Given the description of an element on the screen output the (x, y) to click on. 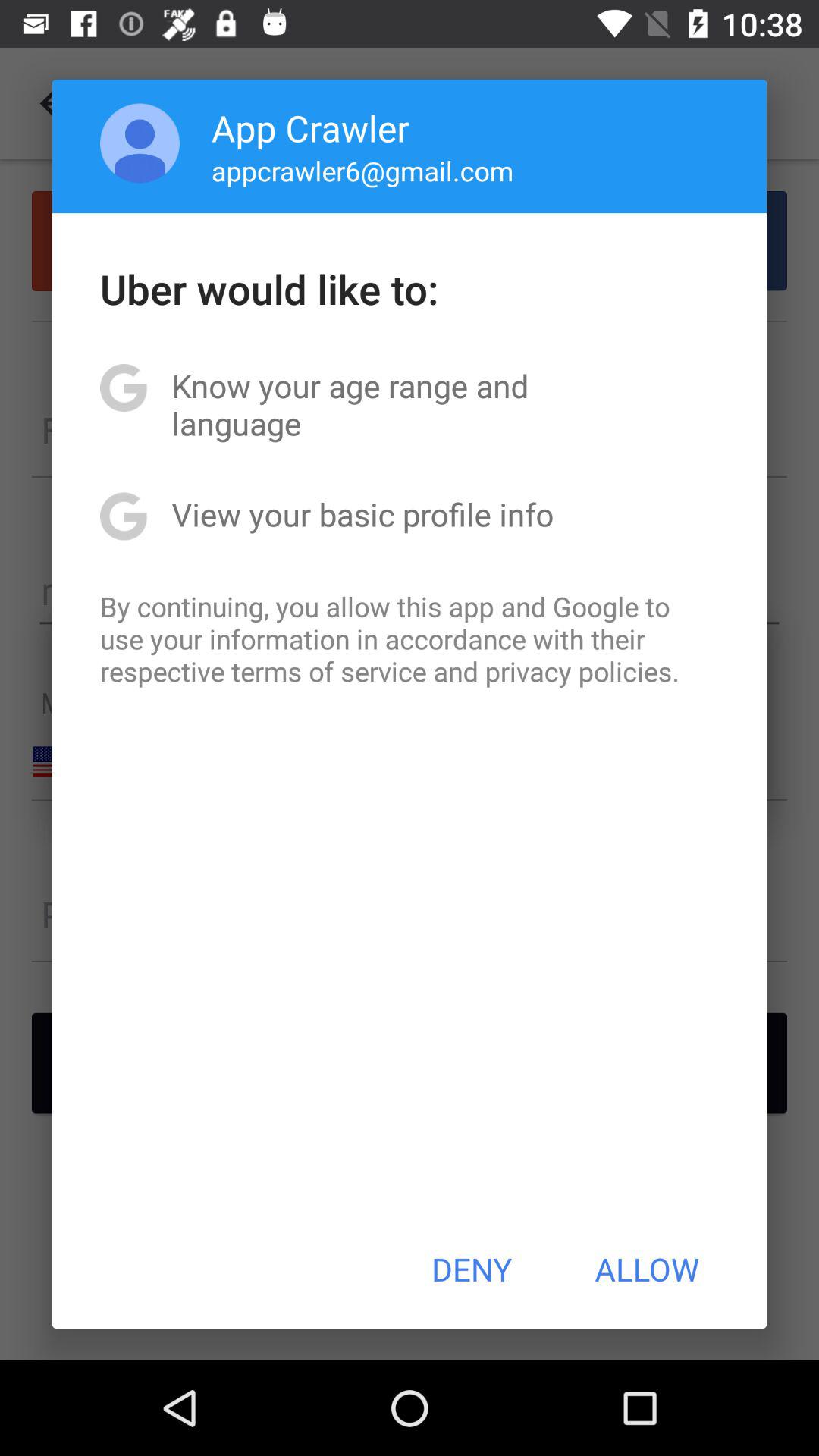
open the item below the uber would like item (409, 404)
